Given the description of an element on the screen output the (x, y) to click on. 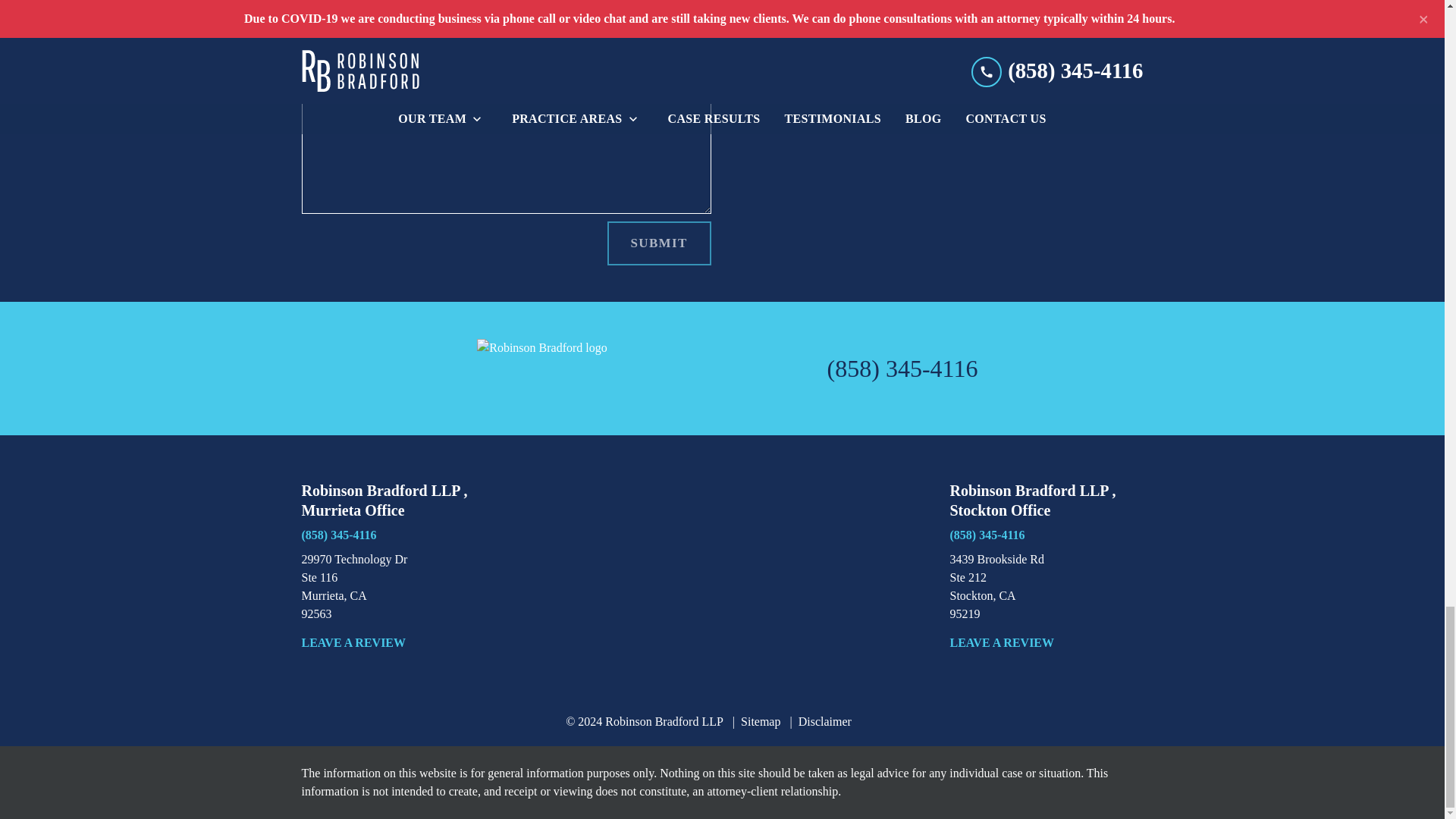
SUBMIT (659, 243)
